Given the description of an element on the screen output the (x, y) to click on. 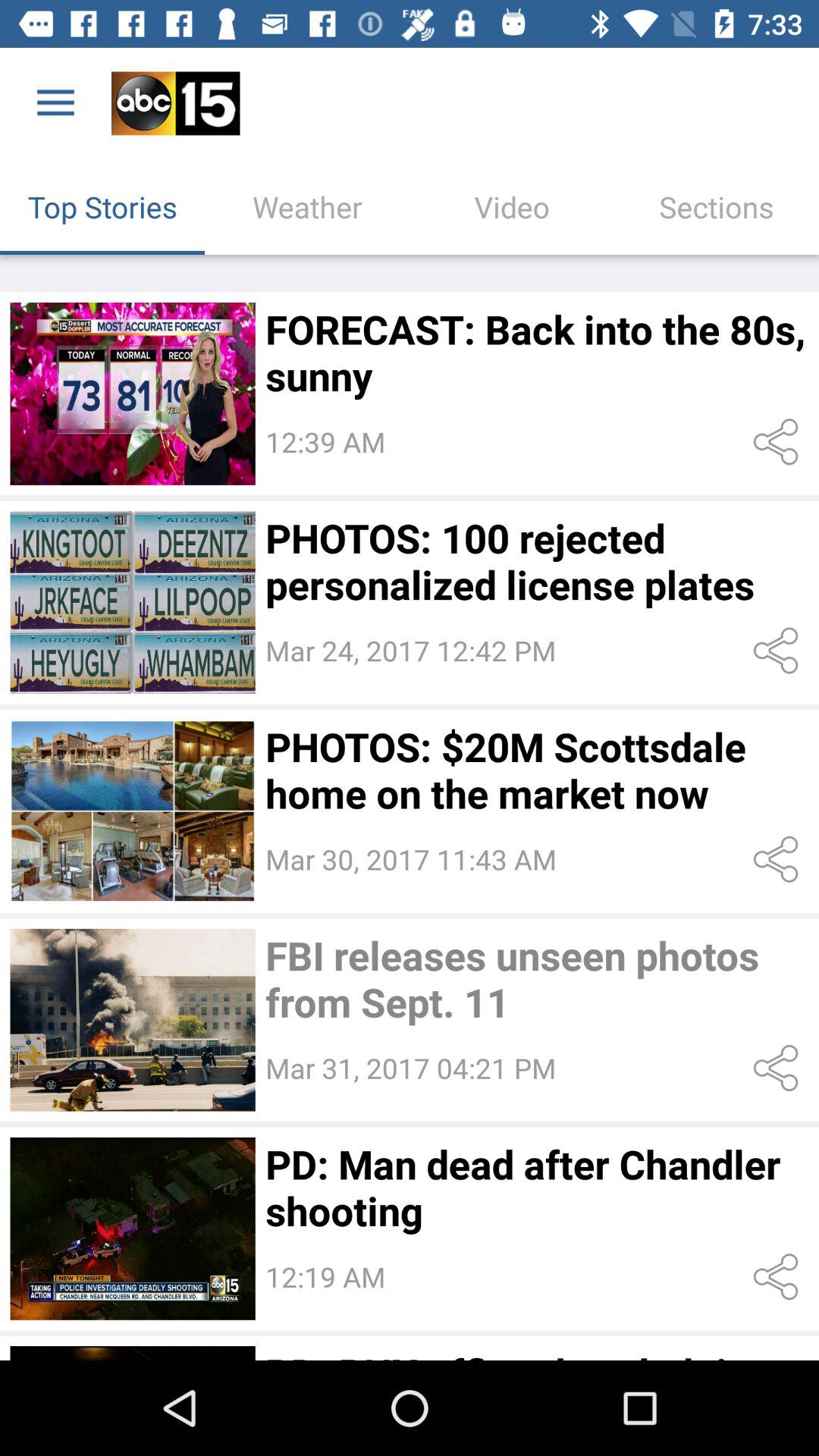
select video (132, 1019)
